Given the description of an element on the screen output the (x, y) to click on. 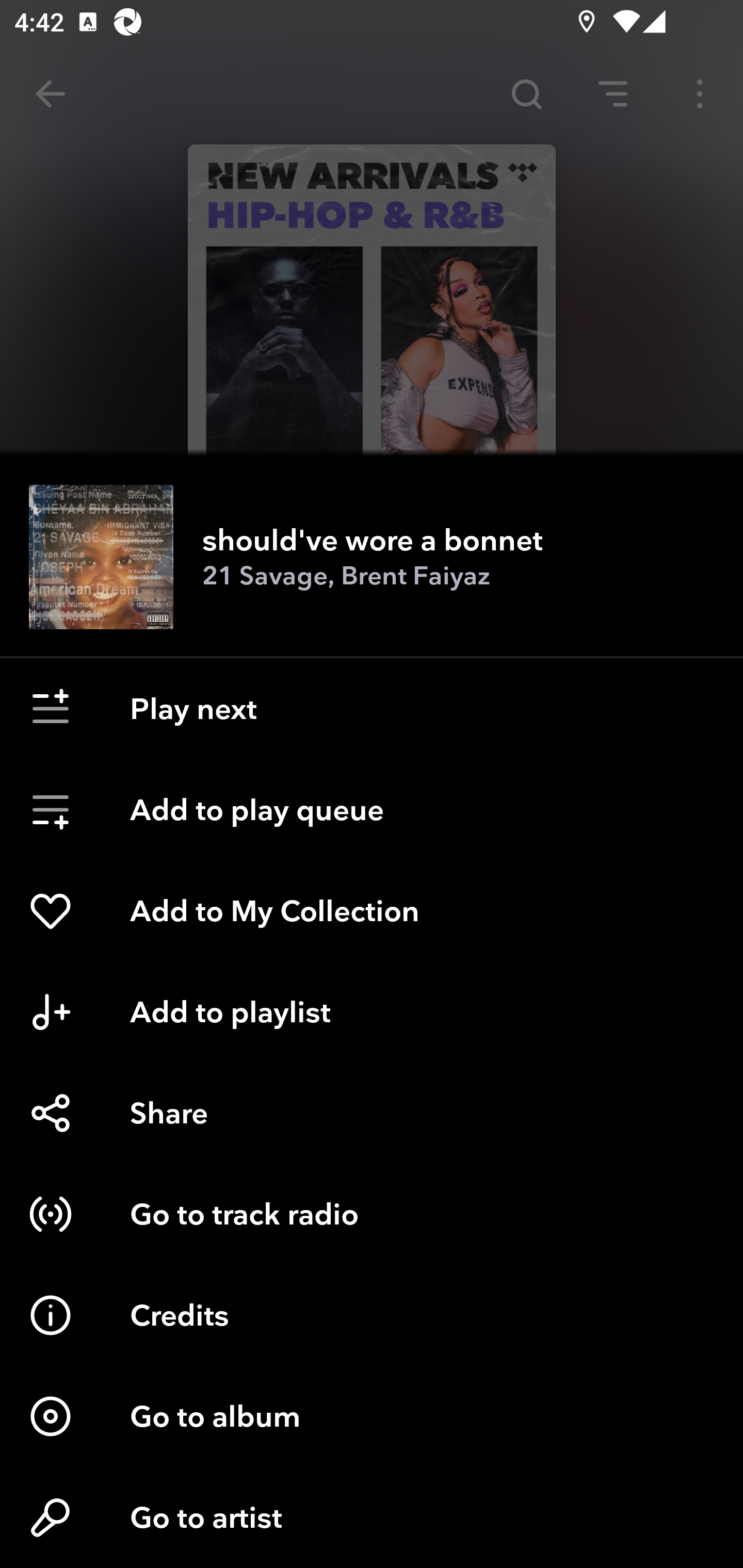
Play next (371, 708)
Add to play queue (371, 809)
Add to My Collection (371, 910)
Add to playlist (371, 1012)
Share (371, 1113)
Go to track radio (371, 1214)
Credits (371, 1315)
Go to album (371, 1416)
Go to artist (371, 1517)
